Given the description of an element on the screen output the (x, y) to click on. 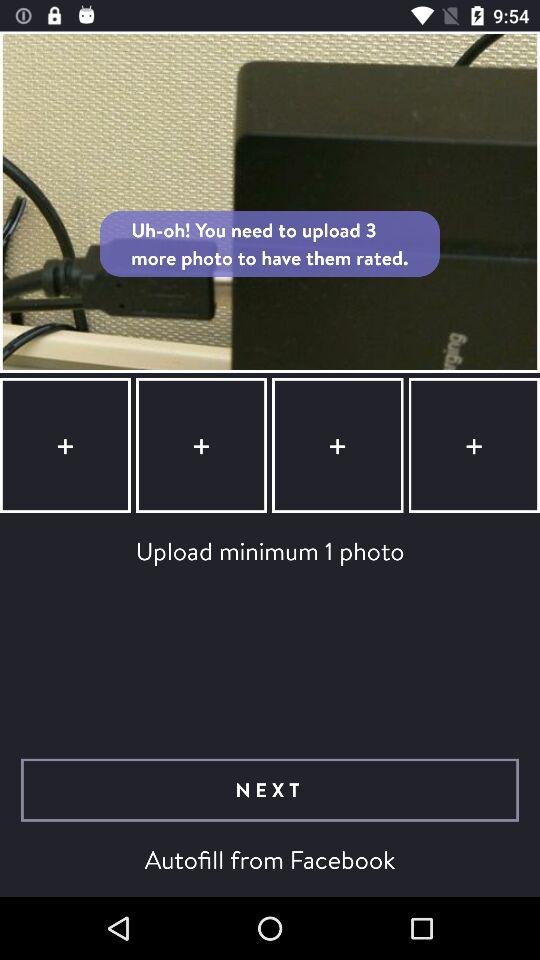
turn on the item above autofill from facebook icon (270, 789)
